Given the description of an element on the screen output the (x, y) to click on. 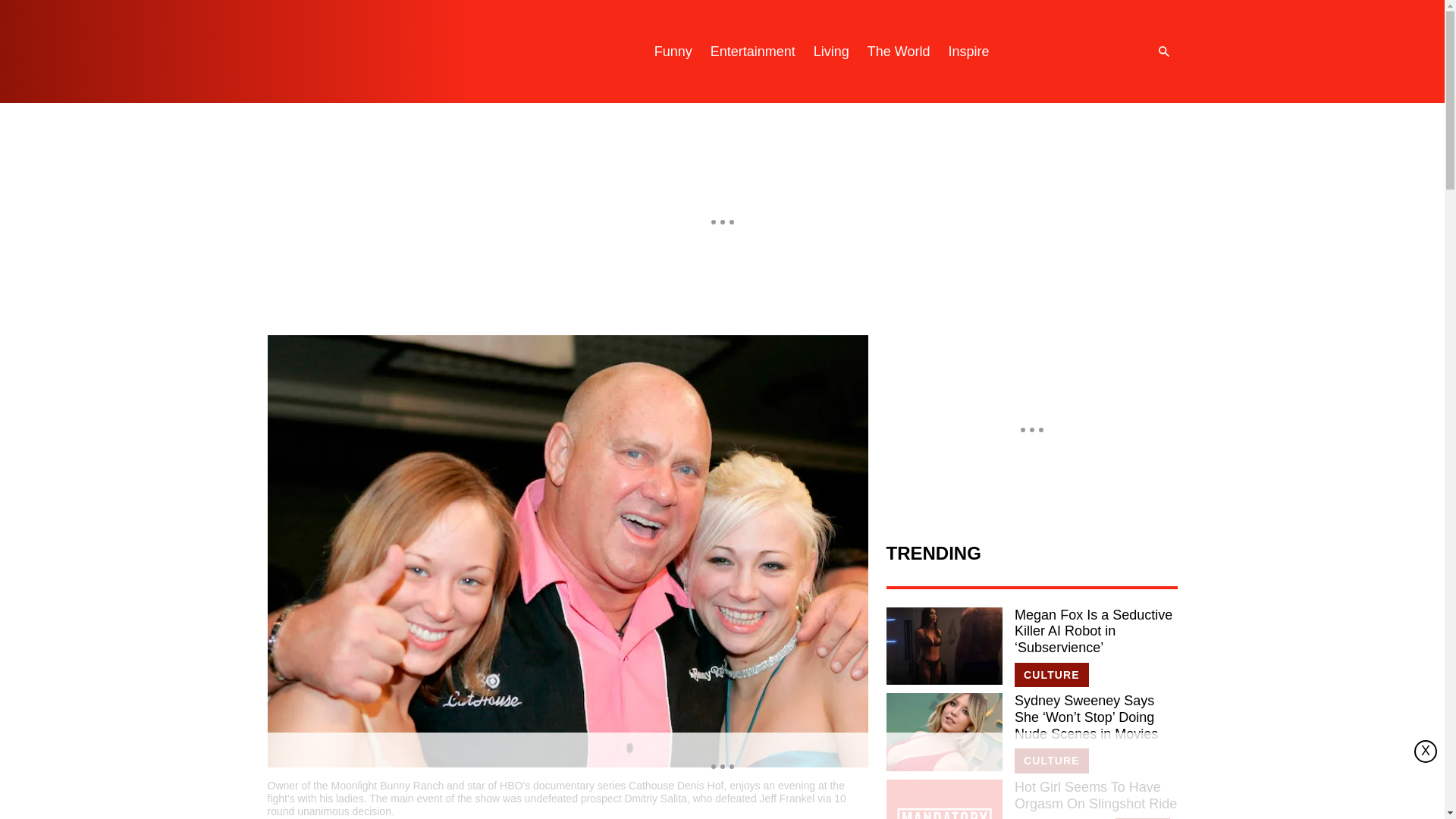
Entertainment (753, 51)
CULTURE (1051, 760)
CULTURE (1051, 674)
Inspire (968, 51)
Hot Girl Seems To Have Orgasm On Slingshot Ride (1095, 795)
Hot Girl Seems To Have Orgasm On Slingshot Ride (944, 799)
Facebook (1109, 51)
Funny (673, 51)
Instagram (1048, 51)
The World (899, 51)
Twitter (1079, 51)
Living (832, 51)
